Given the description of an element on the screen output the (x, y) to click on. 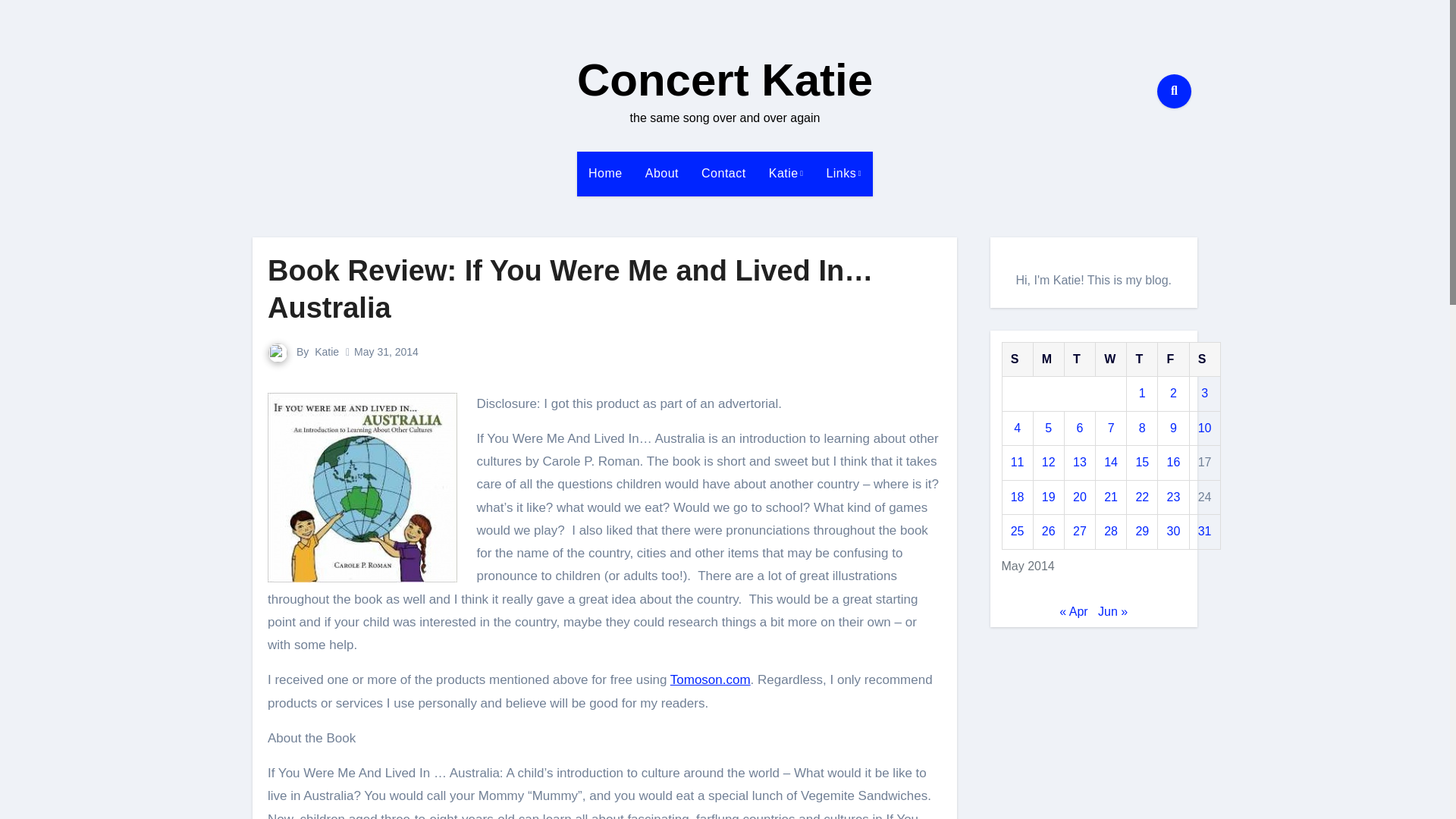
Wednesday (1111, 358)
Home (604, 173)
May 31, 2014 (386, 351)
Katie (786, 173)
Katie (326, 351)
Monday (1048, 358)
Tomoson.com (710, 679)
Concert Katie (724, 79)
About (661, 173)
Links (842, 173)
